Given the description of an element on the screen output the (x, y) to click on. 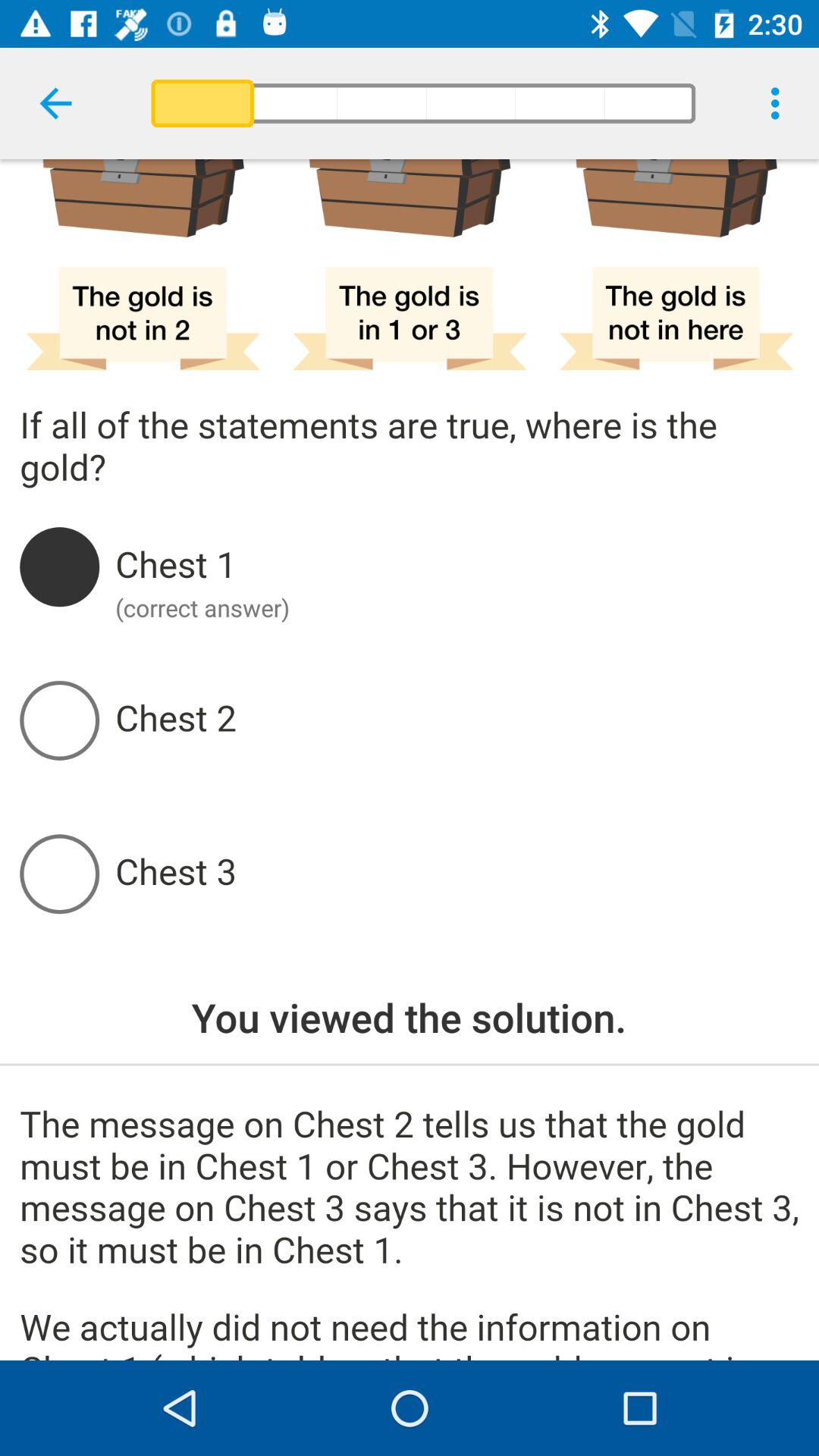
select button (457, 720)
